Given the description of an element on the screen output the (x, y) to click on. 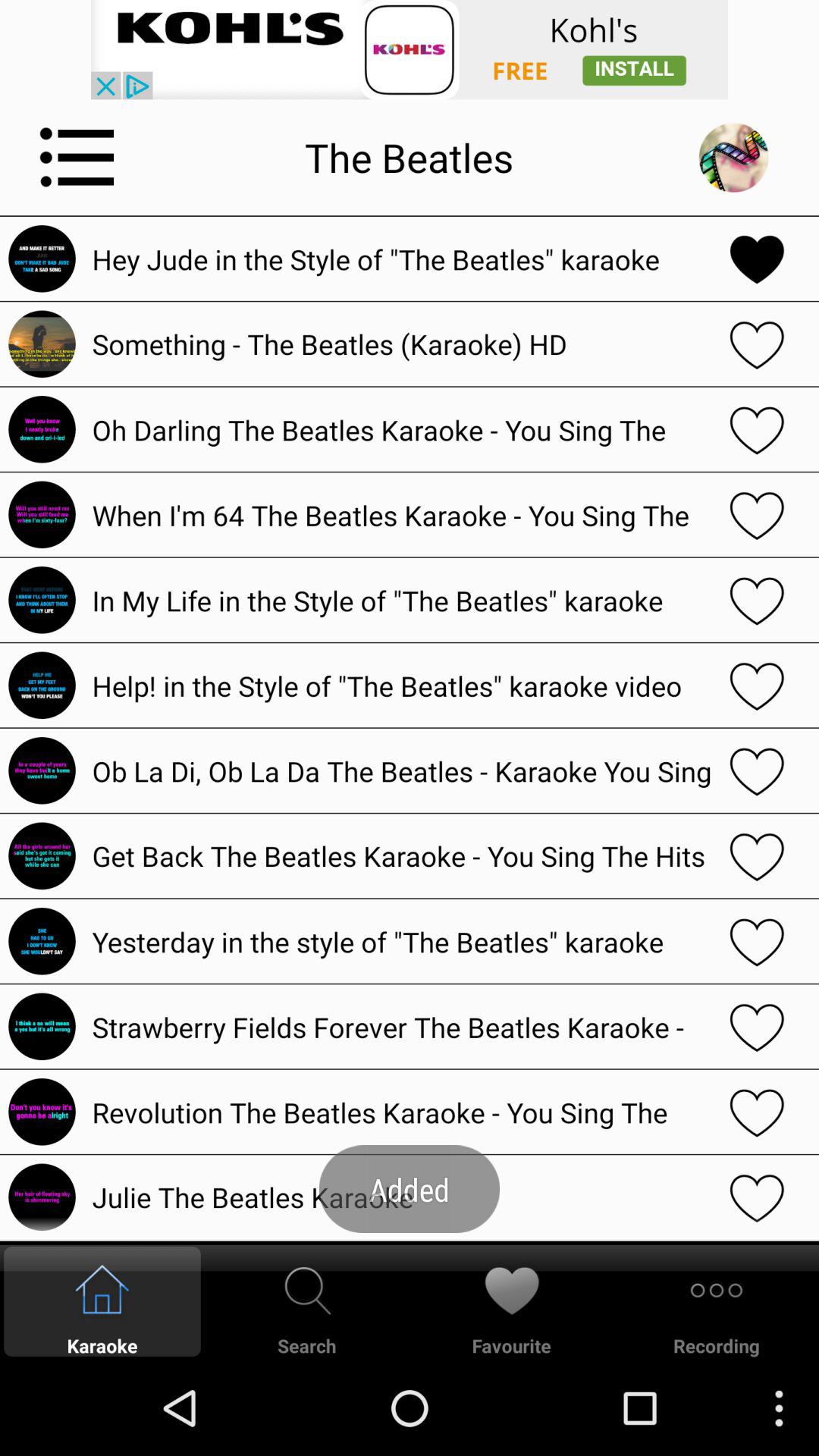
add this song to favourite (756, 599)
